Given the description of an element on the screen output the (x, y) to click on. 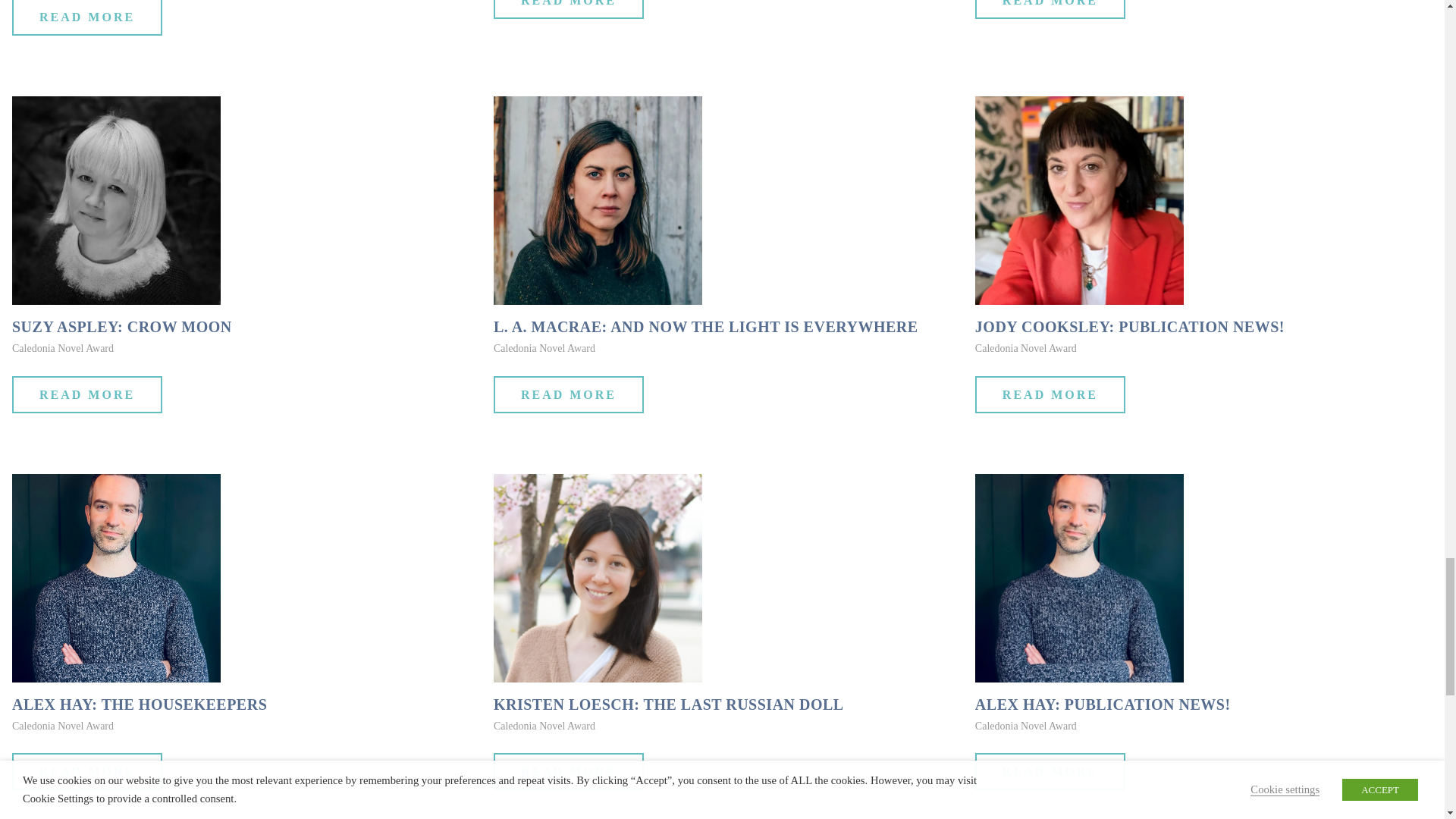
READ MORE (568, 9)
READ MORE (86, 771)
READ MORE (86, 394)
READ MORE (568, 394)
READ MORE (1050, 9)
READ MORE (86, 18)
SUZY ASPLEY: CROW MOON (121, 326)
READ MORE (1050, 394)
ALEX HAY: THE HOUSEKEEPERS (138, 704)
JODY COOKSLEY: PUBLICATION NEWS! (1129, 326)
